Given the description of an element on the screen output the (x, y) to click on. 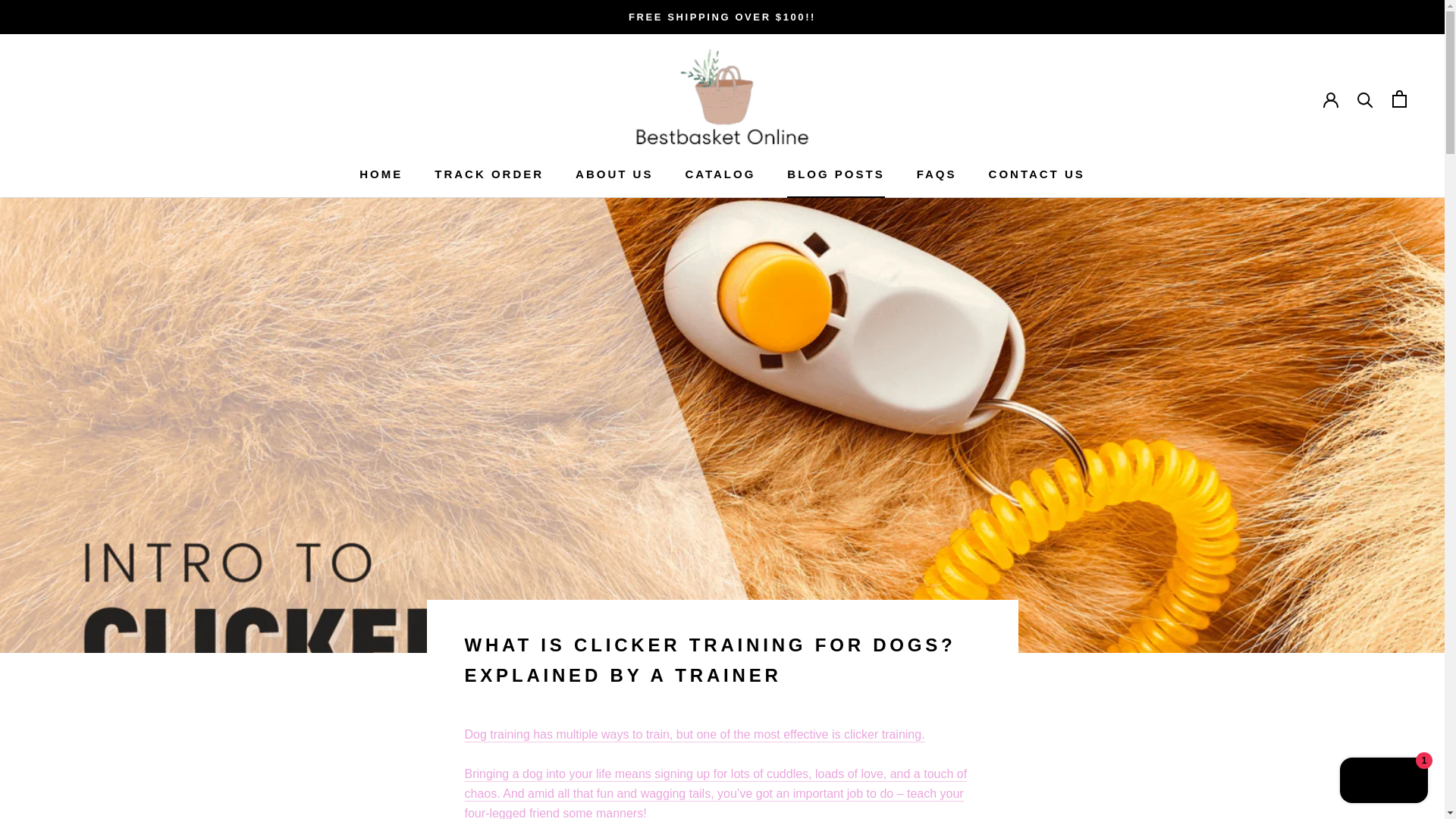
CATALOG (381, 173)
Shopify online store chat (719, 173)
